Given the description of an element on the screen output the (x, y) to click on. 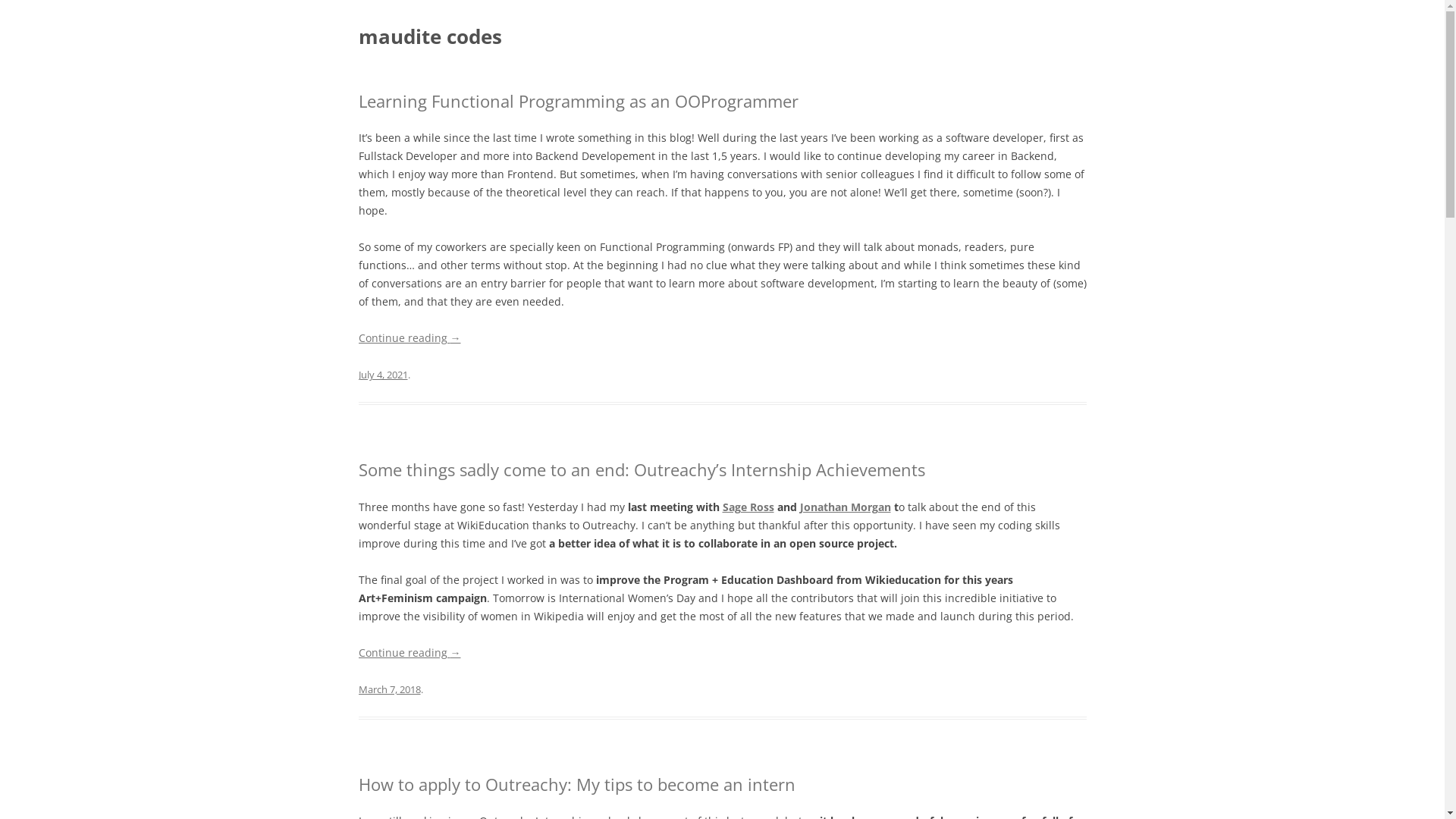
How to apply to Outreachy: My tips to become an intern Element type: text (575, 783)
March 7, 2018 Element type: text (388, 689)
July 4, 2021 Element type: text (382, 374)
Jonathan Morgan Element type: text (844, 506)
maudite codes Element type: text (429, 36)
Learning Functional Programming as an OOProgrammer Element type: text (577, 100)
Sage Ross Element type: text (747, 506)
